Given the description of an element on the screen output the (x, y) to click on. 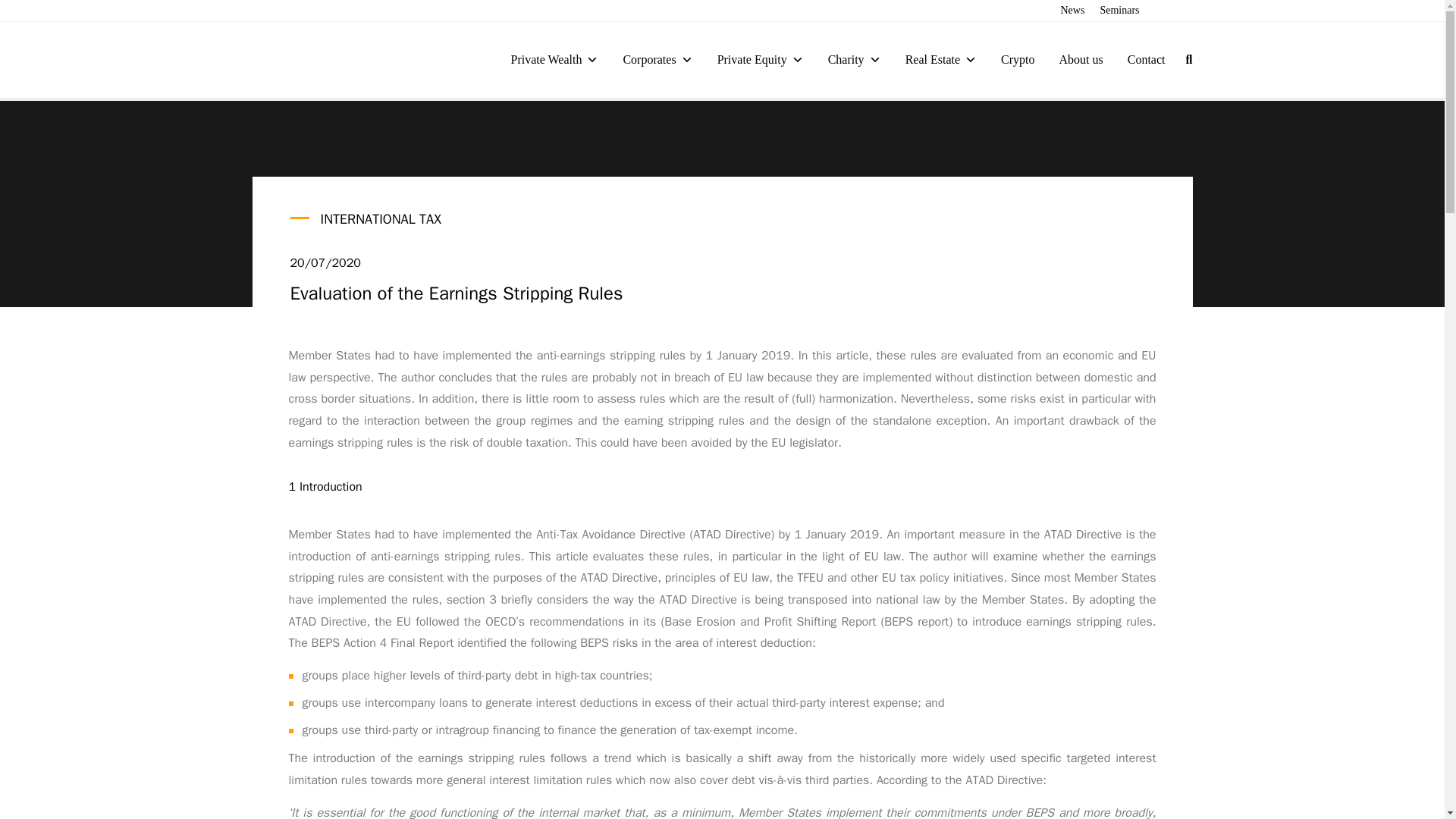
Real Estate (940, 59)
Private Wealth (553, 59)
Charity (854, 59)
News (1072, 10)
About us (1080, 59)
Seminars (1119, 10)
INTERNATIONAL TAX (380, 218)
Private Equity (759, 59)
Corporates (657, 59)
